Given the description of an element on the screen output the (x, y) to click on. 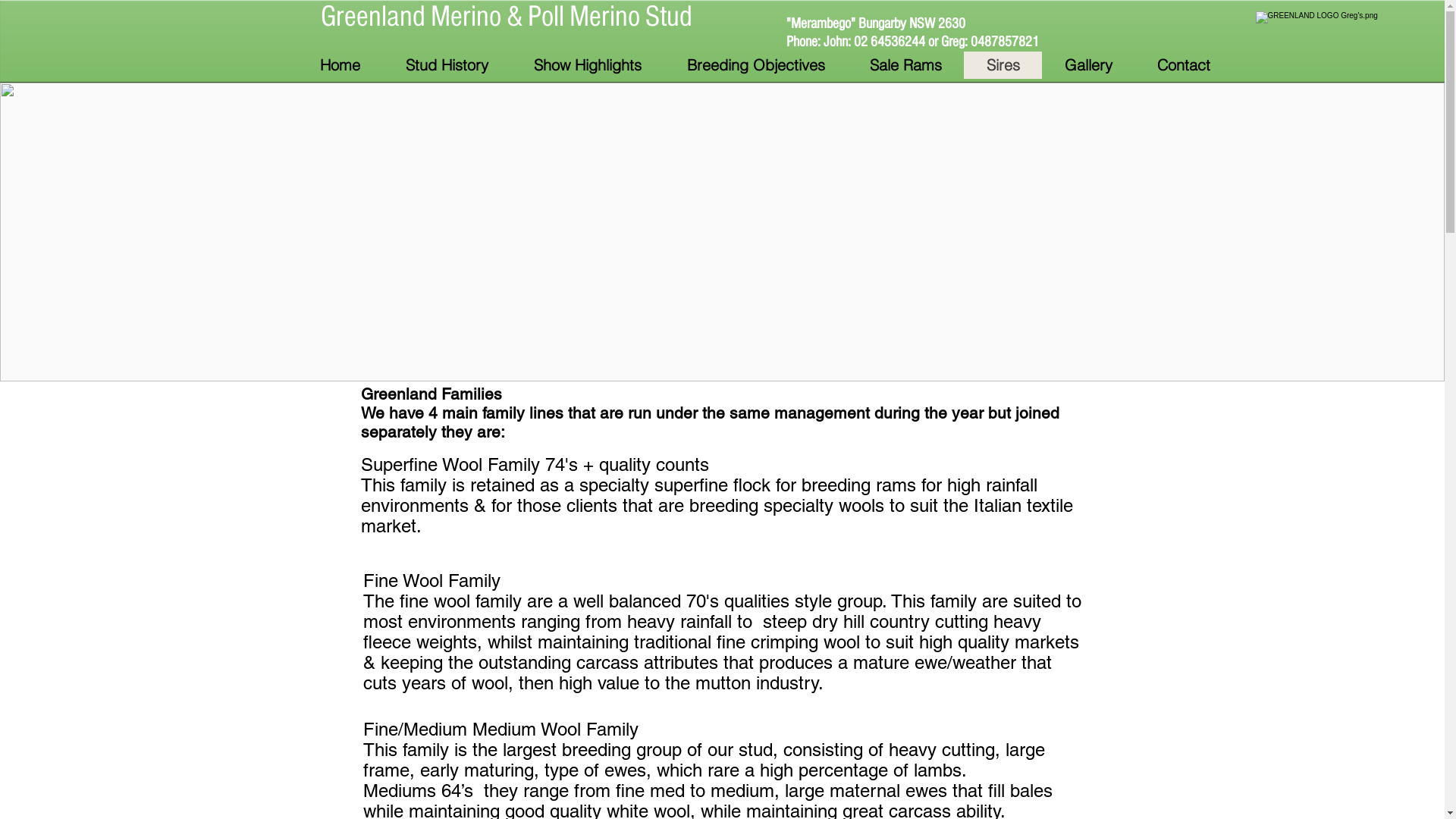
Stud History Element type: text (446, 64)
Home Element type: text (339, 64)
Show Highlights Element type: text (587, 64)
Sires Element type: text (1002, 64)
Gallery Element type: text (1087, 64)
Sale Rams Element type: text (904, 64)
Contact Element type: text (1183, 64)
Breeding Objectives Element type: text (755, 64)
